Given the description of an element on the screen output the (x, y) to click on. 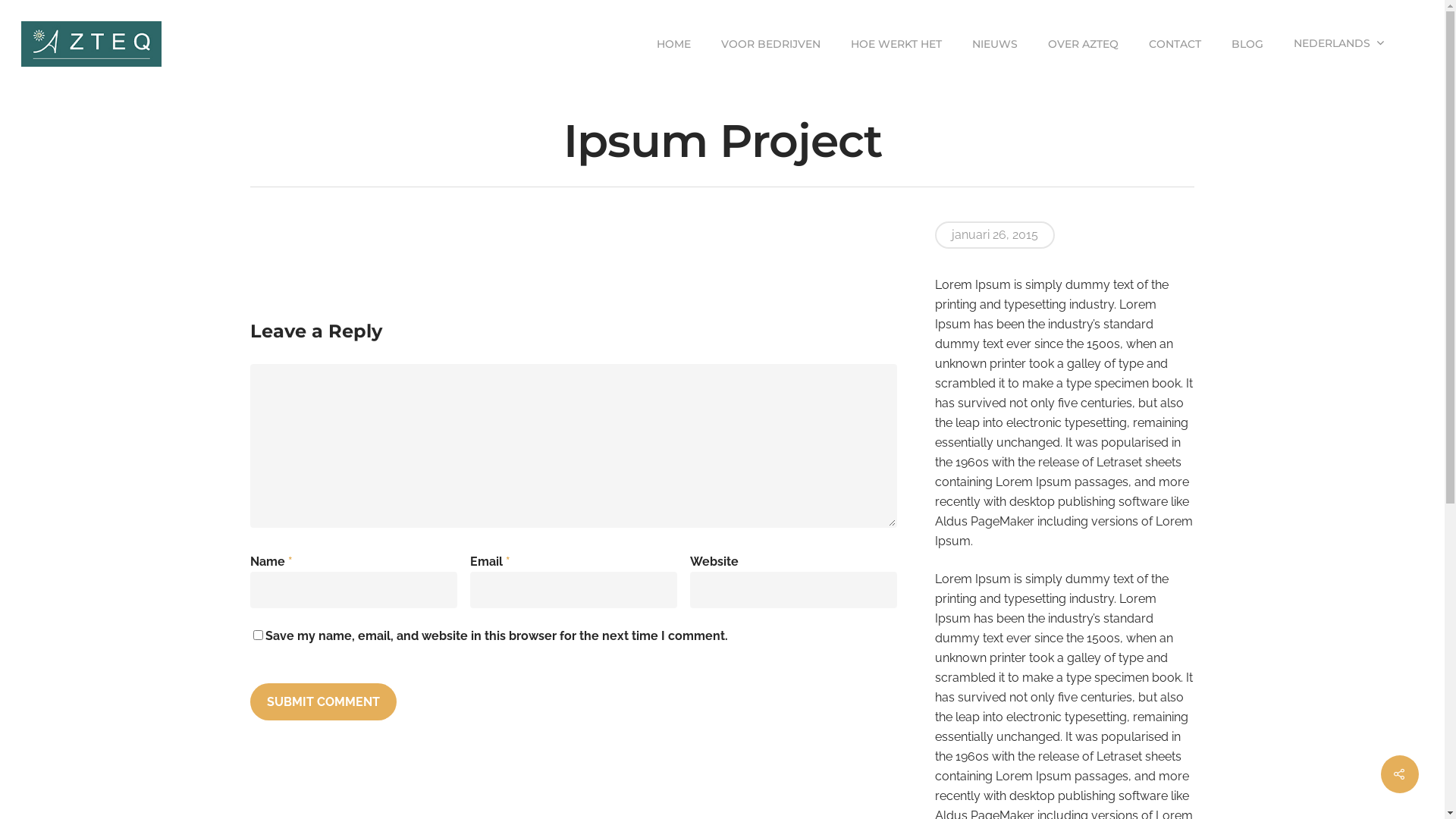
NIEUWS Element type: text (994, 43)
+32 89 39 59 00 Element type: text (743, 637)
HOE WERKT HET Element type: text (896, 43)
info@azteq.be Element type: text (741, 656)
BLOG Element type: text (1247, 43)
Submit Comment Element type: text (323, 701)
HOME Element type: text (673, 43)
OVER AZTEQ Element type: text (1082, 43)
NEDERLANDS Element type: text (1339, 43)
VOOR BEDRIJVEN Element type: text (770, 43)
CONTACT Element type: text (1174, 43)
